Given the description of an element on the screen output the (x, y) to click on. 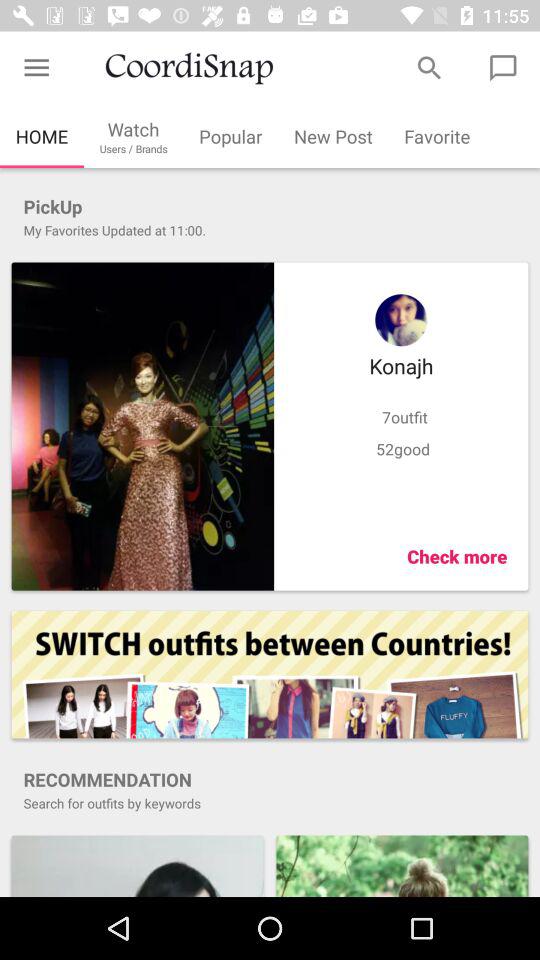
image open option (137, 865)
